Given the description of an element on the screen output the (x, y) to click on. 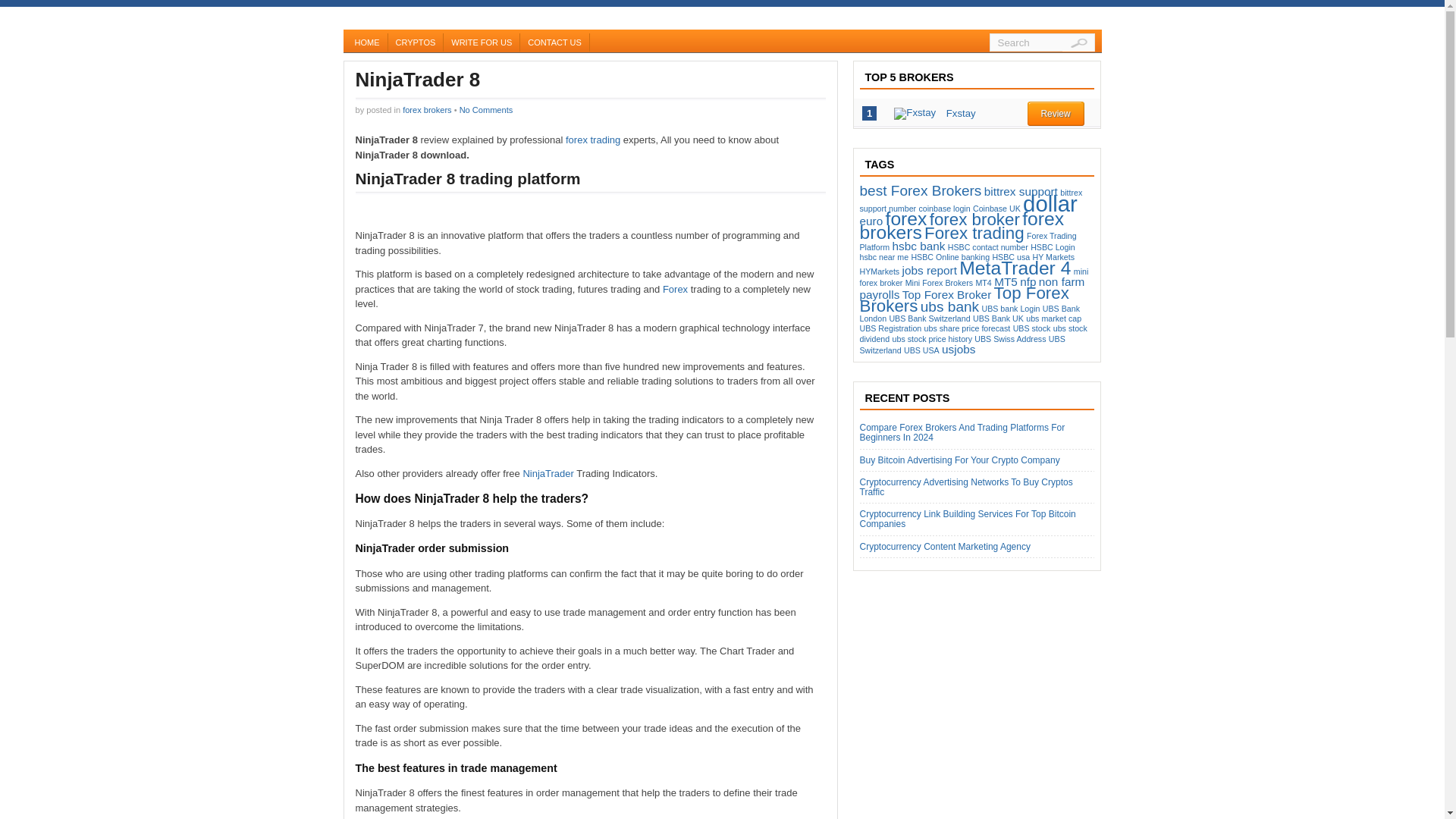
No Comments (486, 108)
bittrex support (1021, 191)
Forex trading (974, 232)
Fxstay (960, 112)
dollar (1050, 203)
HOME (367, 42)
Forex Trading Platform (968, 240)
Coinbase UK (996, 207)
CONTACT US (554, 42)
Review (1054, 113)
